Given the description of an element on the screen output the (x, y) to click on. 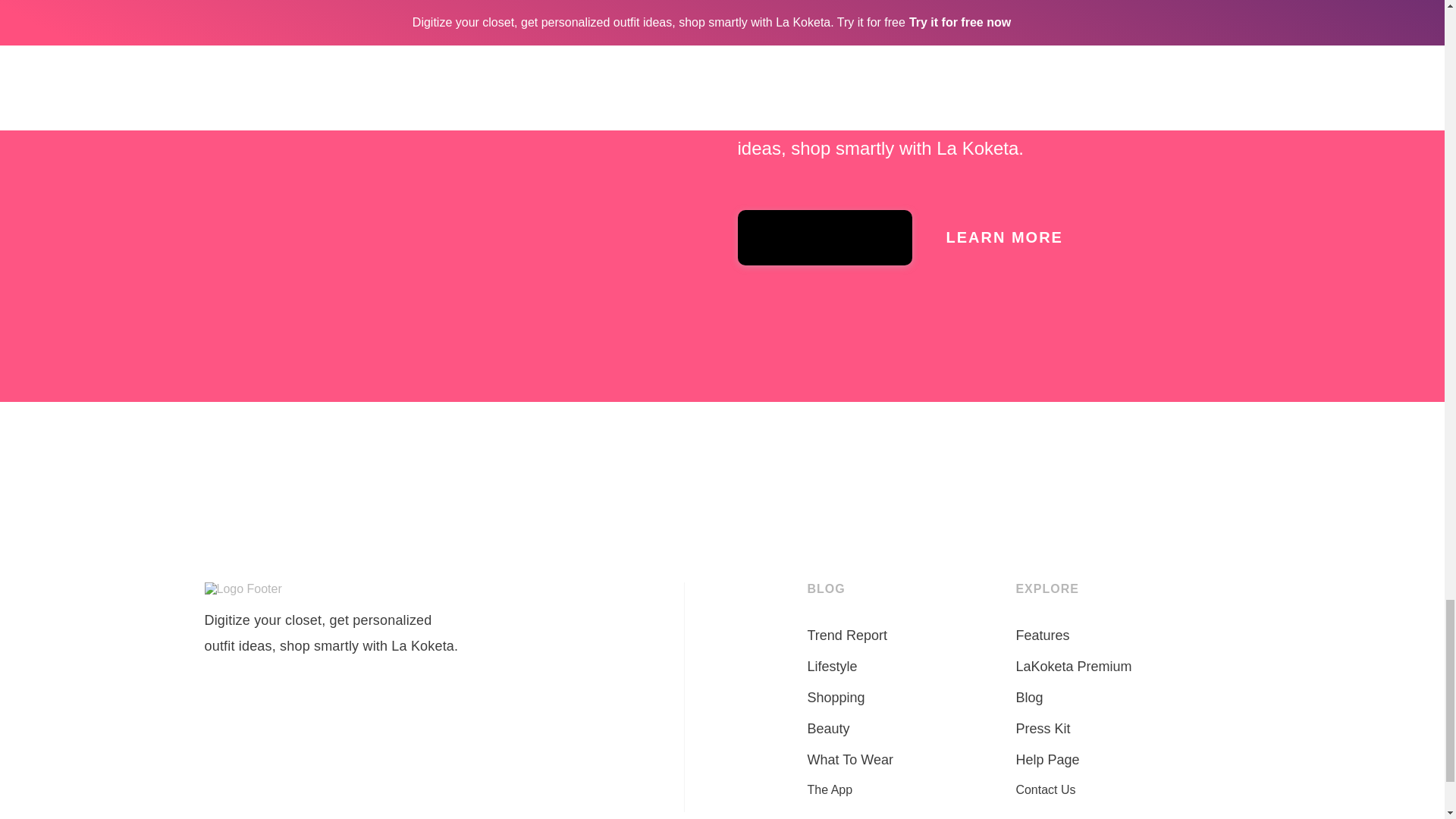
Press Kit (1042, 729)
LaKoketa Premium (1072, 666)
Trend Report (847, 635)
The App (830, 789)
Features (1041, 635)
Blog (1028, 697)
Beauty (829, 729)
Shopping (836, 697)
What To Wear (850, 760)
Help Page (1046, 760)
